Given the description of an element on the screen output the (x, y) to click on. 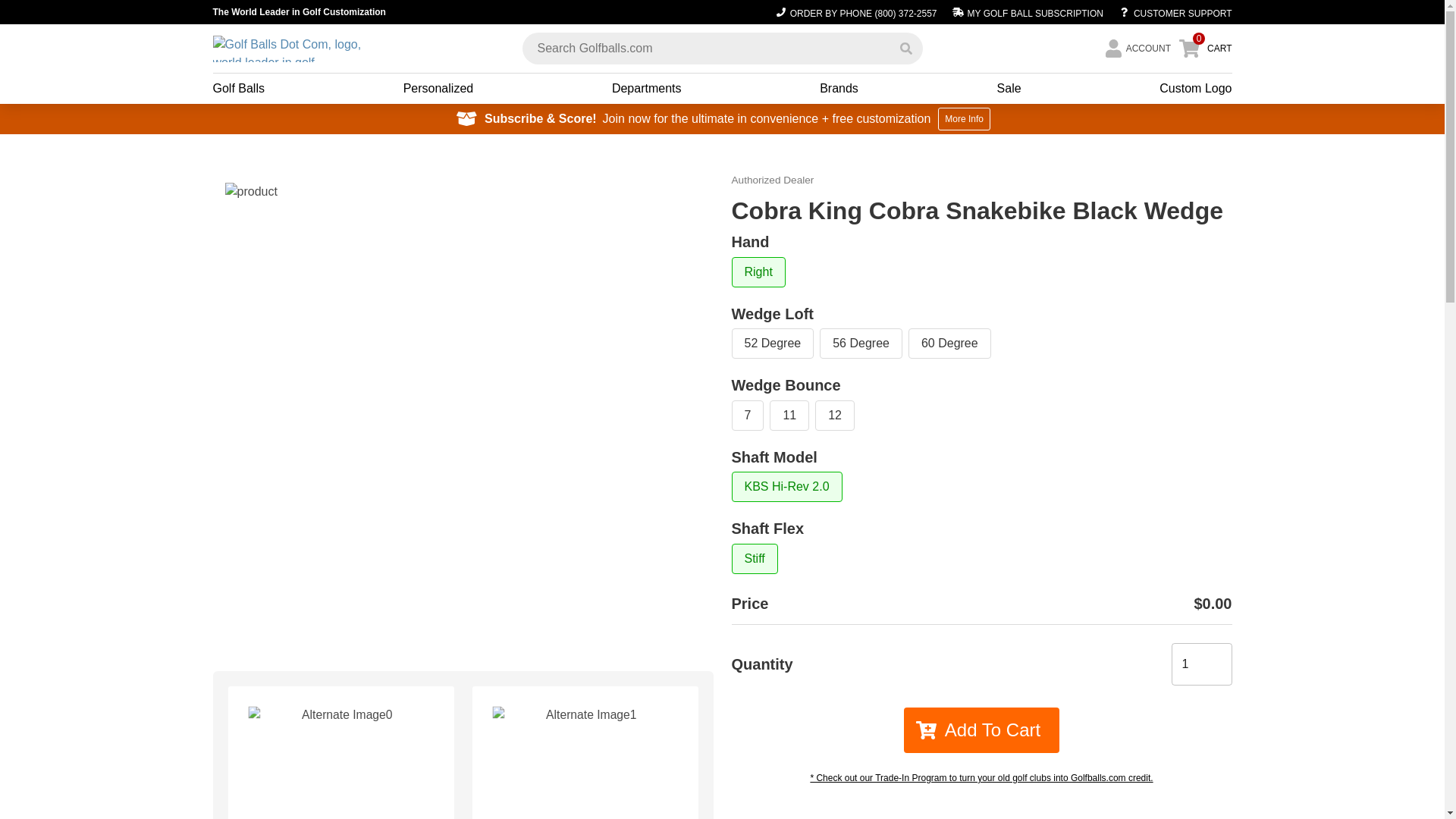
MY GOLF BALL SUBSCRIPTION (1026, 12)
7 (746, 415)
60 Degree (949, 343)
Personalized (438, 88)
Right (757, 272)
12 (834, 415)
Custom Logo (1194, 88)
1 (1200, 663)
Golf Balls (237, 88)
More Info (963, 118)
11 (789, 415)
56 Degree (860, 343)
Brands (839, 88)
CUSTOMER SUPPORT (1170, 12)
52 Degree (771, 343)
